Given the description of an element on the screen output the (x, y) to click on. 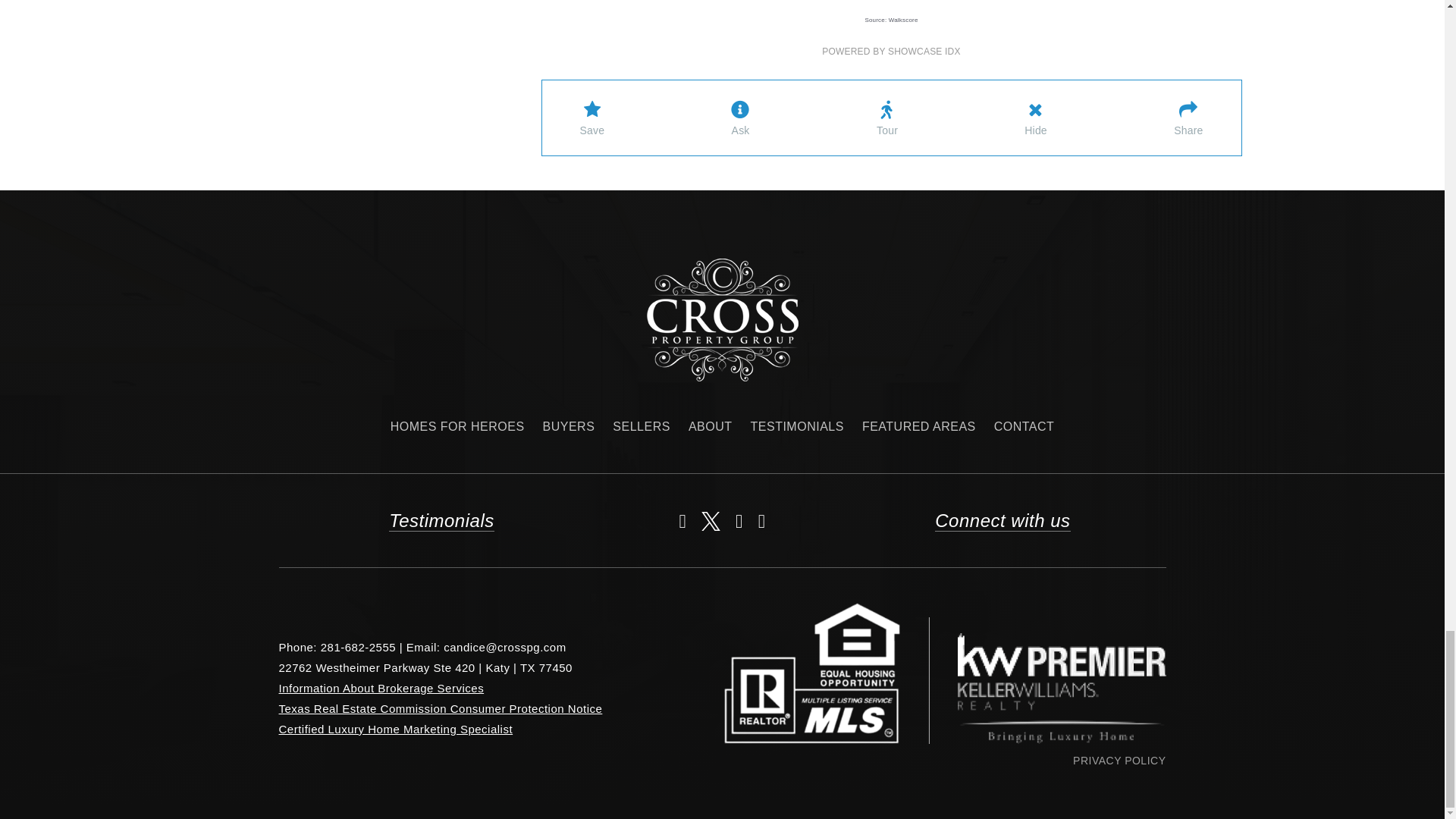
Certified Luxury Home Marketing Specialist (396, 728)
Texas Real Estate Commission Consumer Protection Notice (440, 707)
Information About Brokerage Services (381, 687)
